Given the description of an element on the screen output the (x, y) to click on. 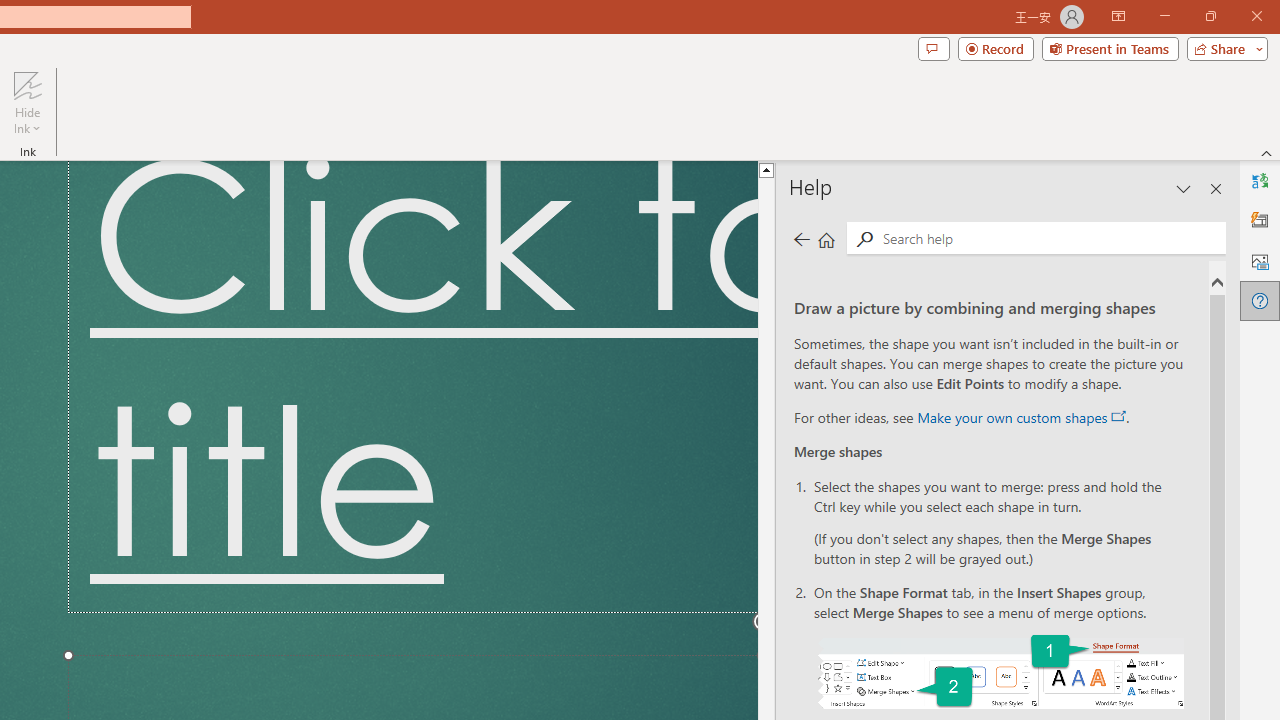
Task Pane Options (1183, 188)
Translator (1260, 180)
Title TextBox (412, 386)
Search (864, 238)
Designer (1260, 220)
Hide Ink (27, 102)
Hide Ink (27, 84)
